Given the description of an element on the screen output the (x, y) to click on. 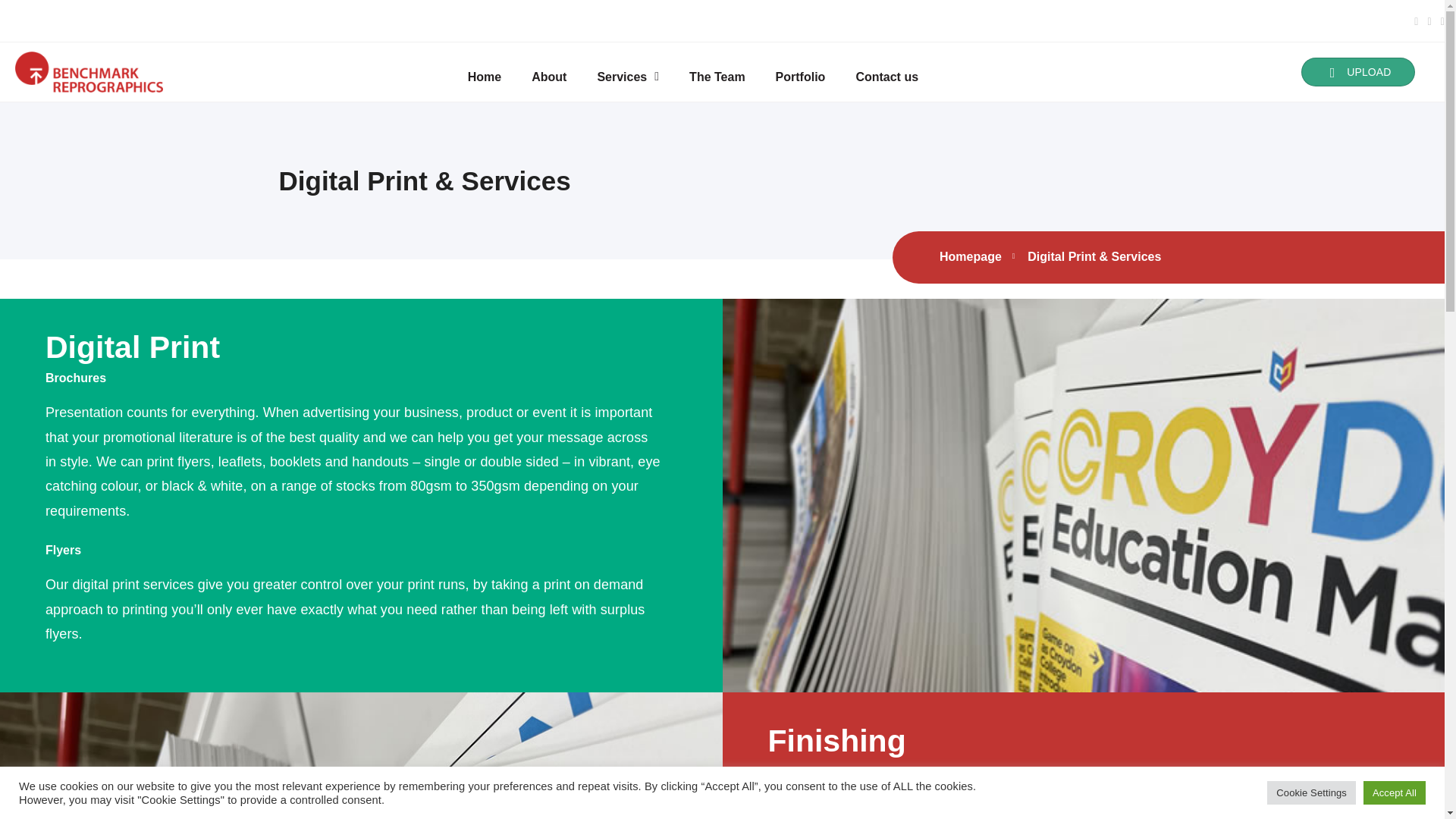
01293 922500 (76, 20)
The Team (717, 75)
About (548, 75)
UPLOAD (1358, 71)
Contact us (886, 75)
Portfolio (800, 75)
Services (627, 75)
logo (88, 72)
Home (484, 75)
